Given the description of an element on the screen output the (x, y) to click on. 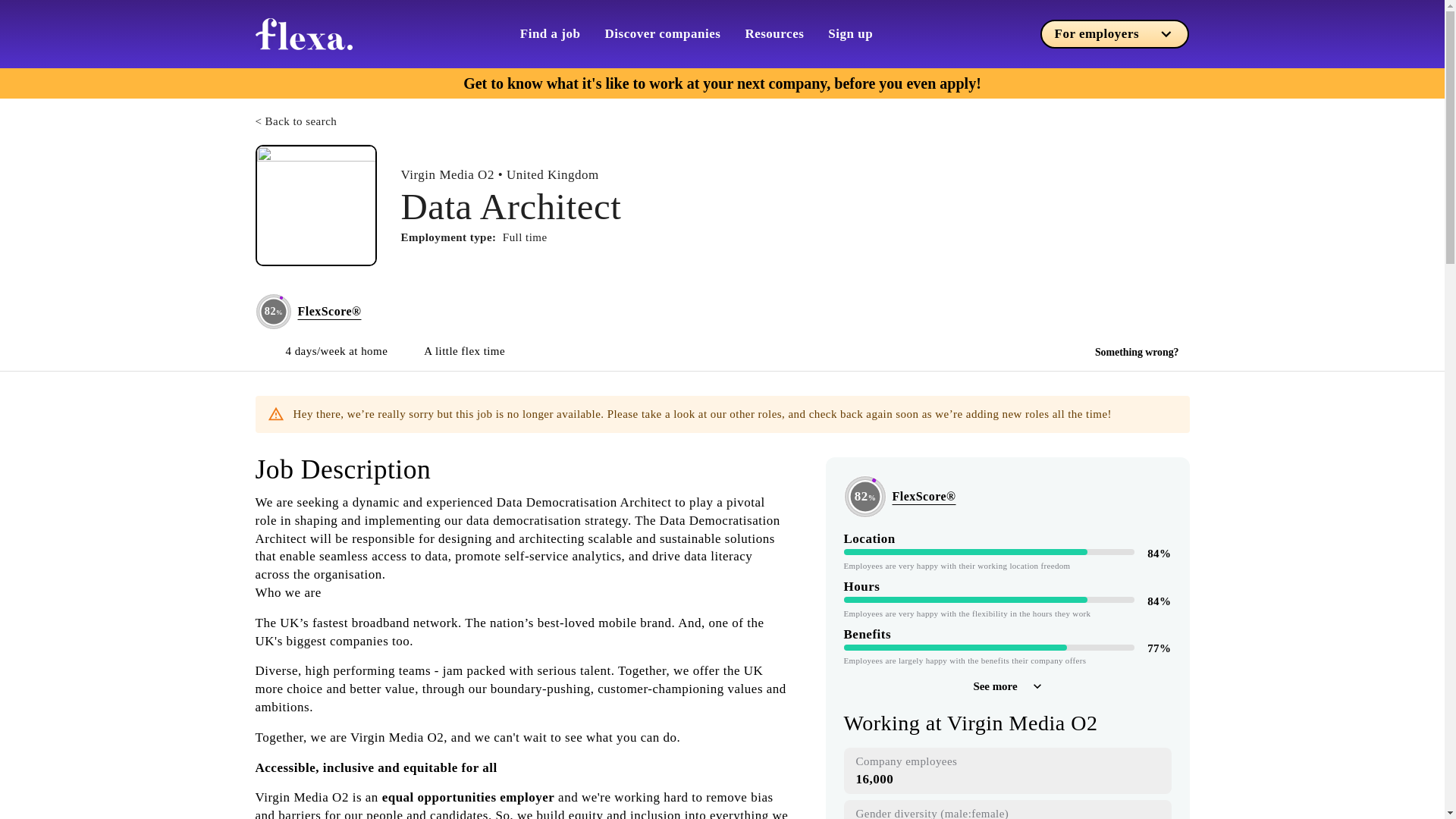
Find a job (549, 33)
Resources (773, 33)
Something wrong? (1136, 352)
For employers (1115, 33)
Sign up (850, 33)
See more (1006, 686)
Discover companies (662, 33)
